Given the description of an element on the screen output the (x, y) to click on. 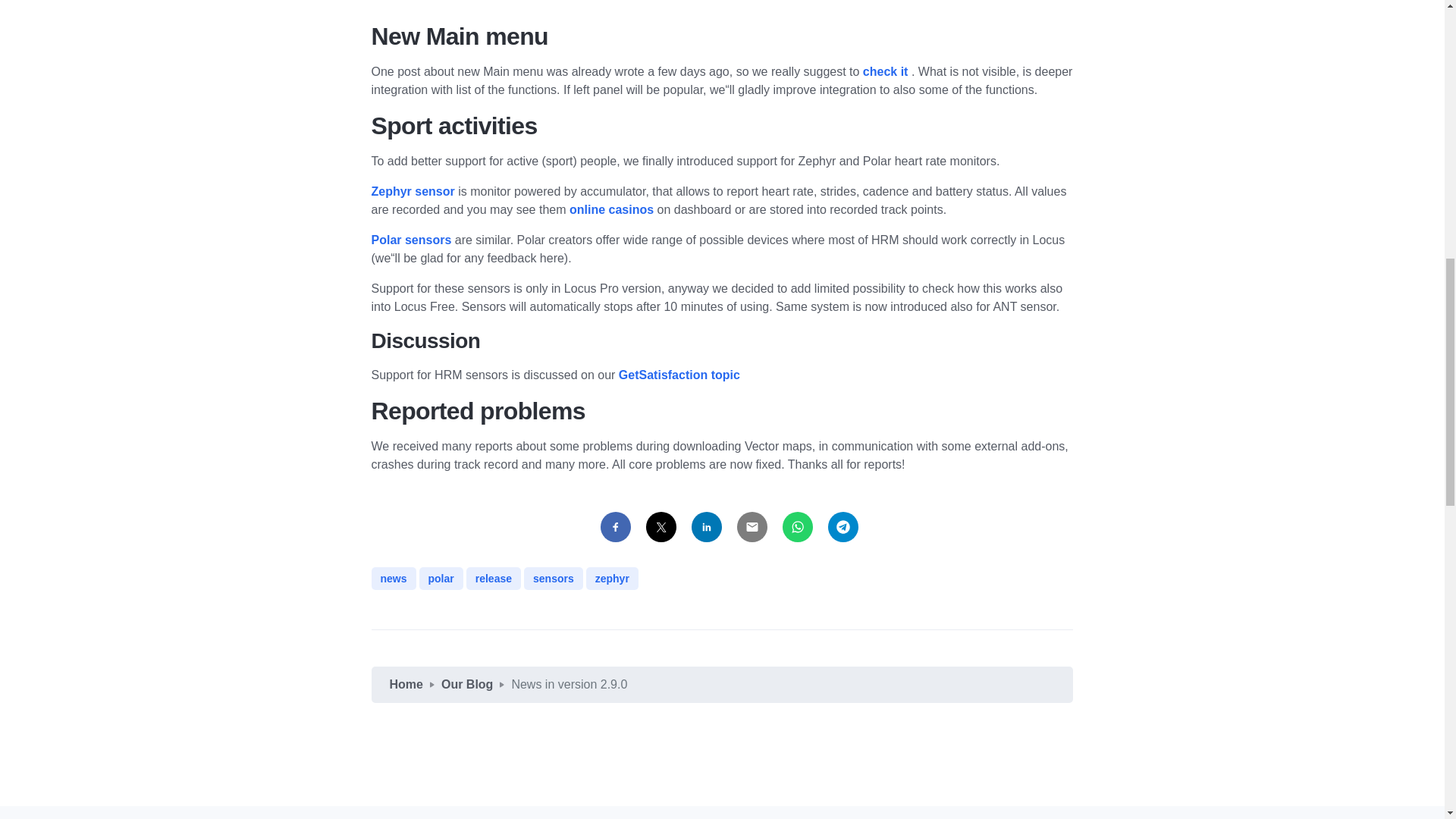
Elegant main menu (887, 71)
Zephyr sensor (412, 191)
zephyr (612, 578)
polar (441, 578)
Polar sensors (411, 239)
Home (406, 684)
release (493, 578)
sensors (553, 578)
Our Blog (467, 684)
GetSatisfaction topic (678, 374)
